Given the description of an element on the screen output the (x, y) to click on. 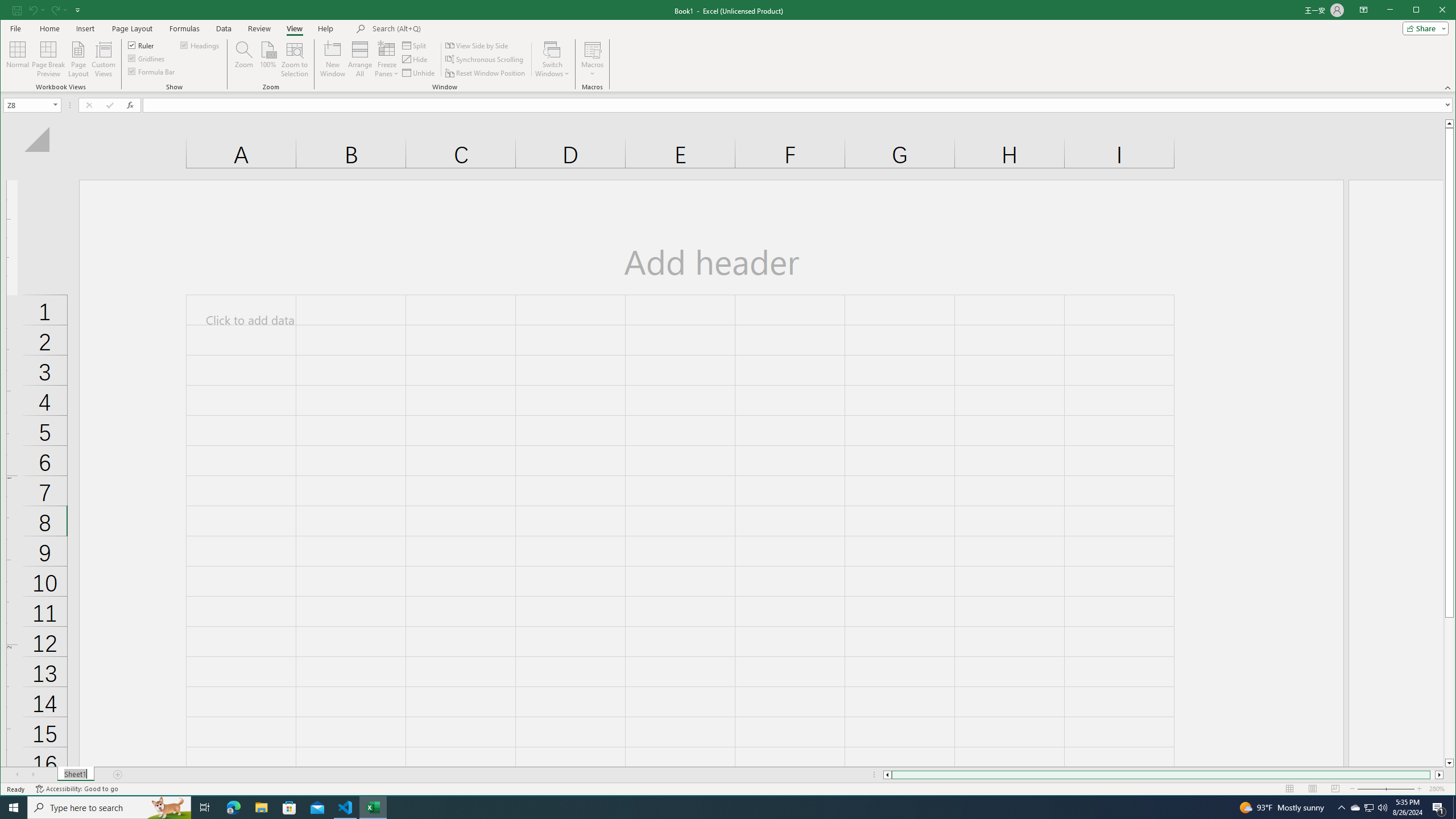
Sheet Tab (75, 774)
Excel - 1 running window (373, 807)
Arrange All (360, 59)
User Promoted Notification Area (1368, 807)
Q2790: 100% (1382, 807)
Macros (592, 59)
Search highlights icon opens search home window (167, 807)
